Given the description of an element on the screen output the (x, y) to click on. 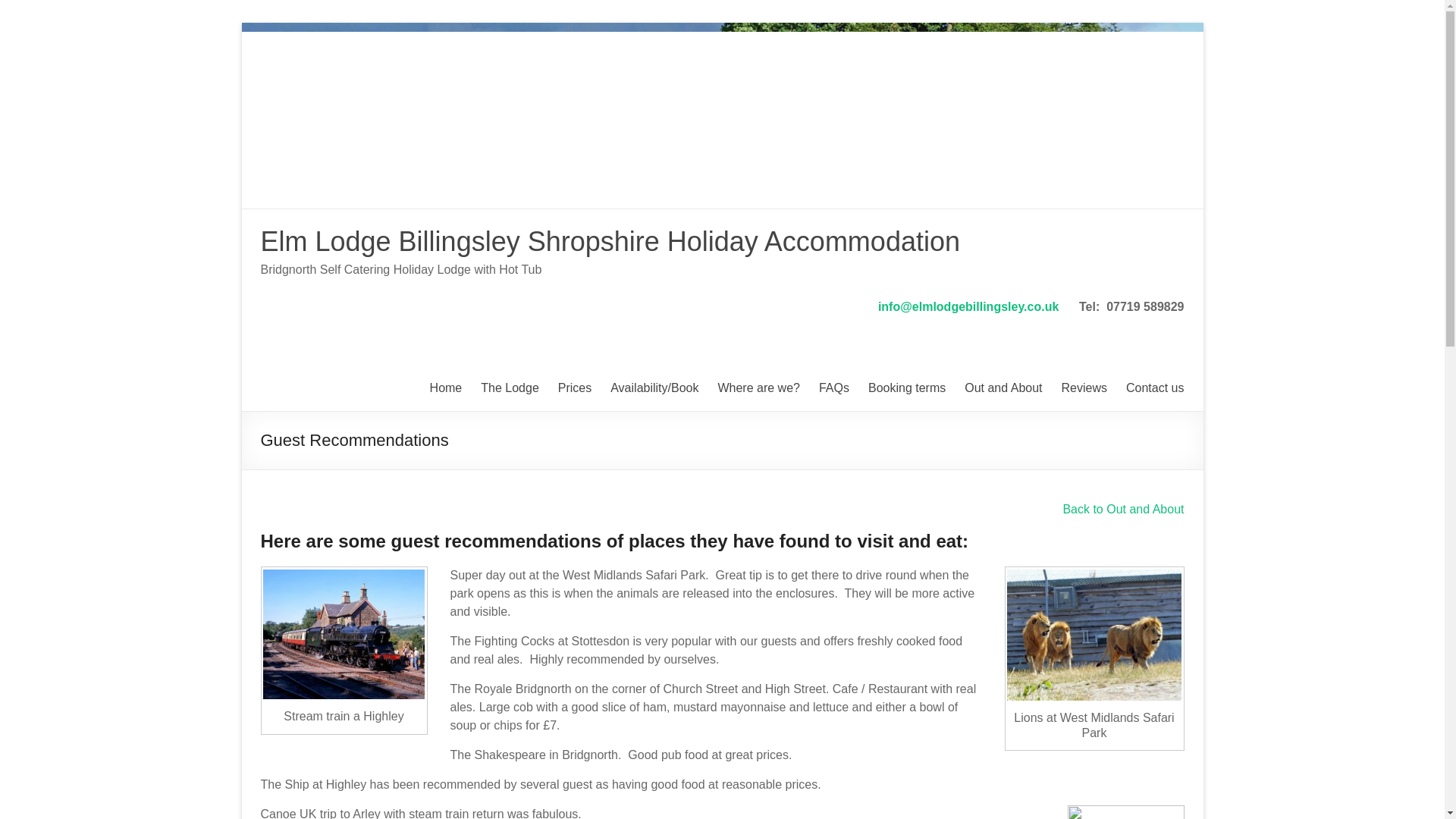
Home (446, 387)
Elm Lodge Billingsley Shropshire Holiday Accommodation (609, 241)
Booking terms (905, 387)
Elm Lodge Billingsley Shropshire Holiday Accommodation (609, 241)
Back to Out and About (1122, 508)
FAQs (833, 387)
Reviews (1083, 387)
Out and About (1002, 387)
The Lodge (509, 387)
Contact us (1154, 387)
